Given the description of an element on the screen output the (x, y) to click on. 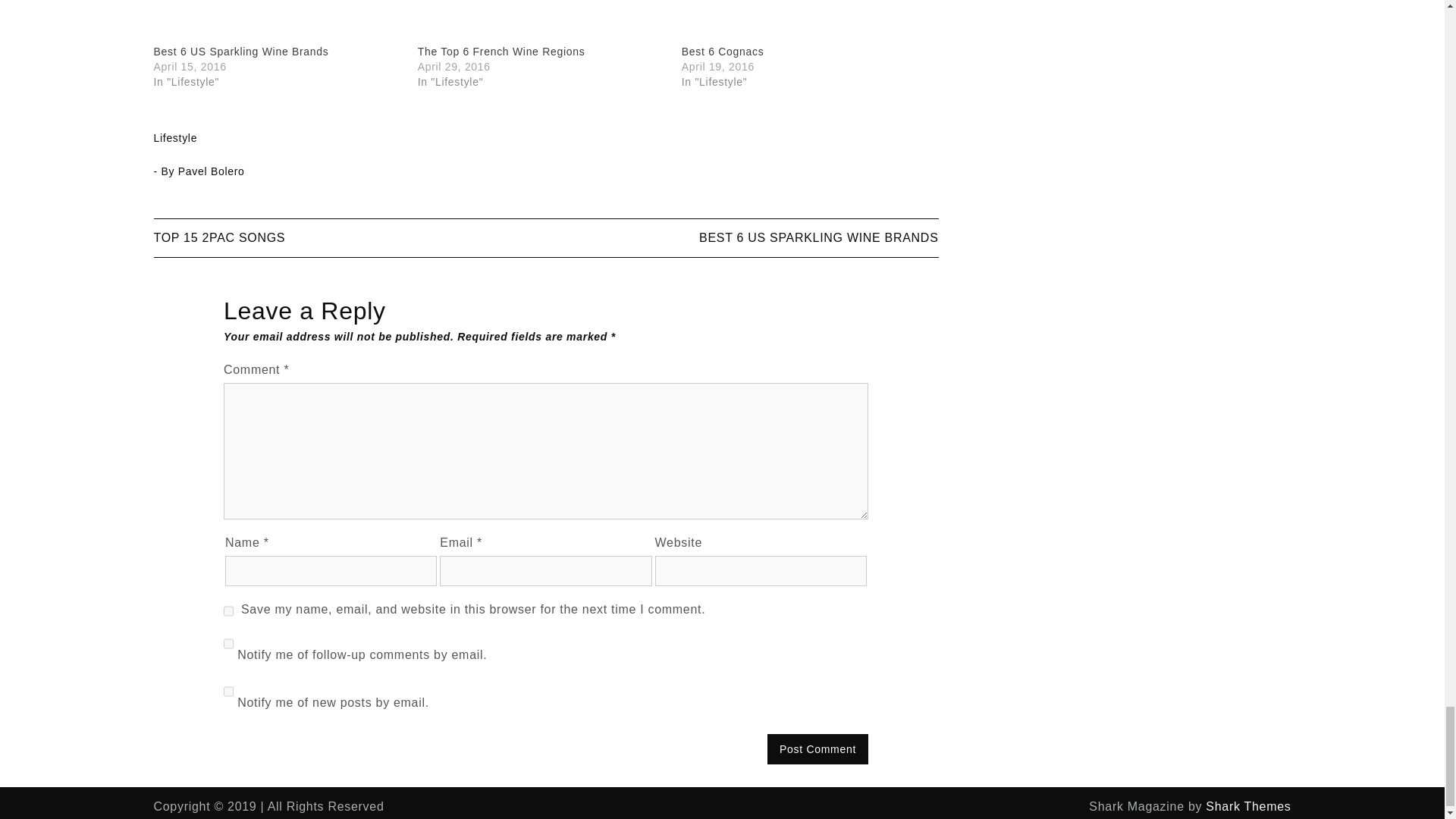
The Top 6 French Wine Regions (541, 22)
Post Comment (817, 748)
yes (228, 611)
Best 6 Cognacs (722, 51)
The Top 6 French Wine Regions (501, 51)
Best 6 US Sparkling Wine Brands (240, 51)
The Top 6 French Wine Regions (501, 51)
Best 6 US Sparkling Wine Brands (240, 51)
subscribe (228, 643)
Best 6 US Sparkling Wine Brands (276, 22)
subscribe (228, 691)
Best 6 Cognacs (805, 22)
